Given the description of an element on the screen output the (x, y) to click on. 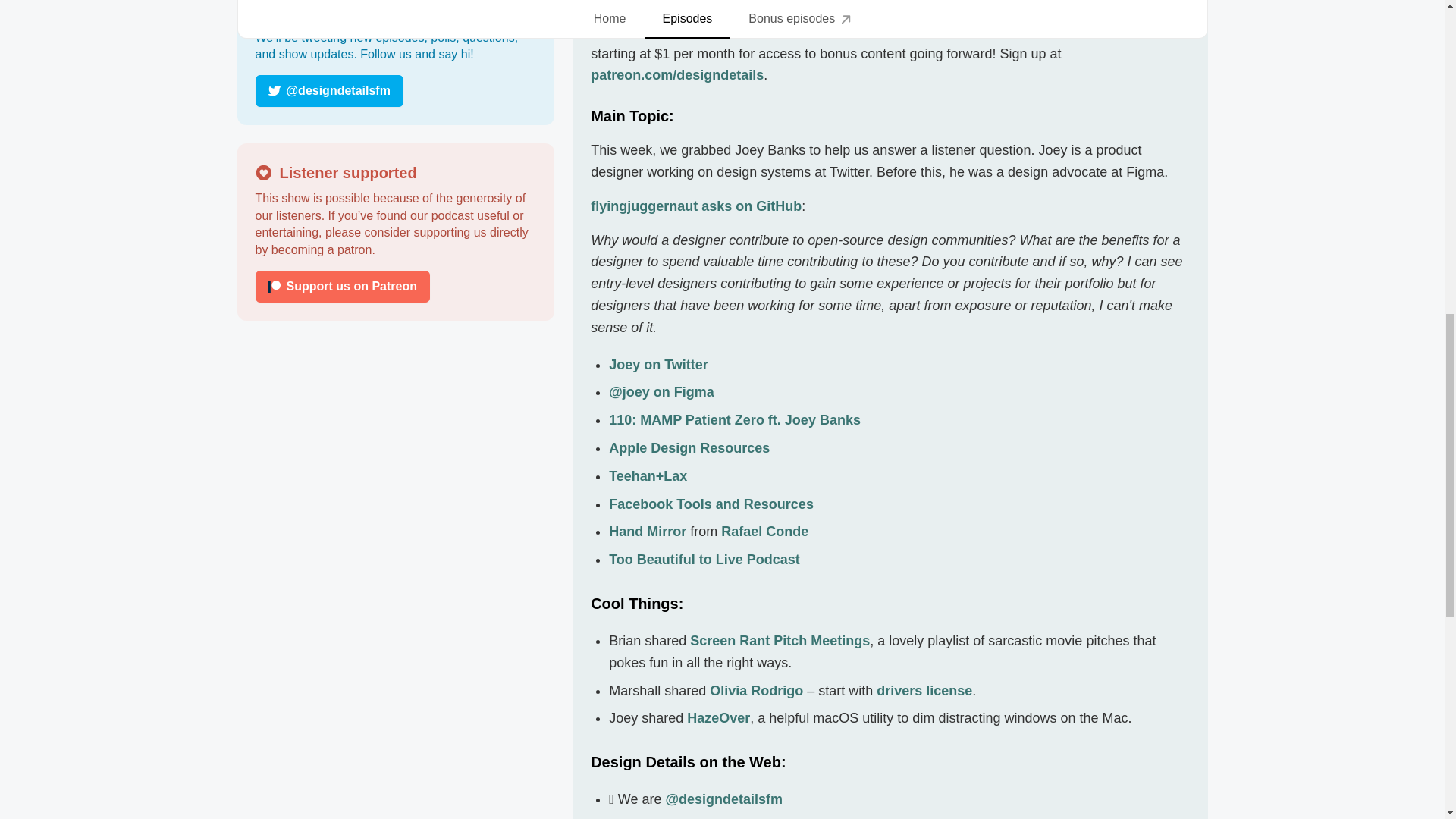
HazeOver (718, 717)
Apple Design Resources (689, 447)
Joey on Twitter (657, 364)
Facebook Tools and Resources (710, 503)
Support us on Patreon (394, 286)
Olivia Rodrigo (756, 689)
drivers license (924, 689)
Support us on Patreon (341, 286)
flyingjuggernaut asks on GitHub (696, 206)
Rafael Conde (764, 531)
Hand Mirror (646, 531)
110: MAMP Patient Zero ft. Joey Banks (734, 419)
Screen Rant Pitch Meetings (779, 640)
Too Beautiful to Live Podcast (703, 559)
